Given the description of an element on the screen output the (x, y) to click on. 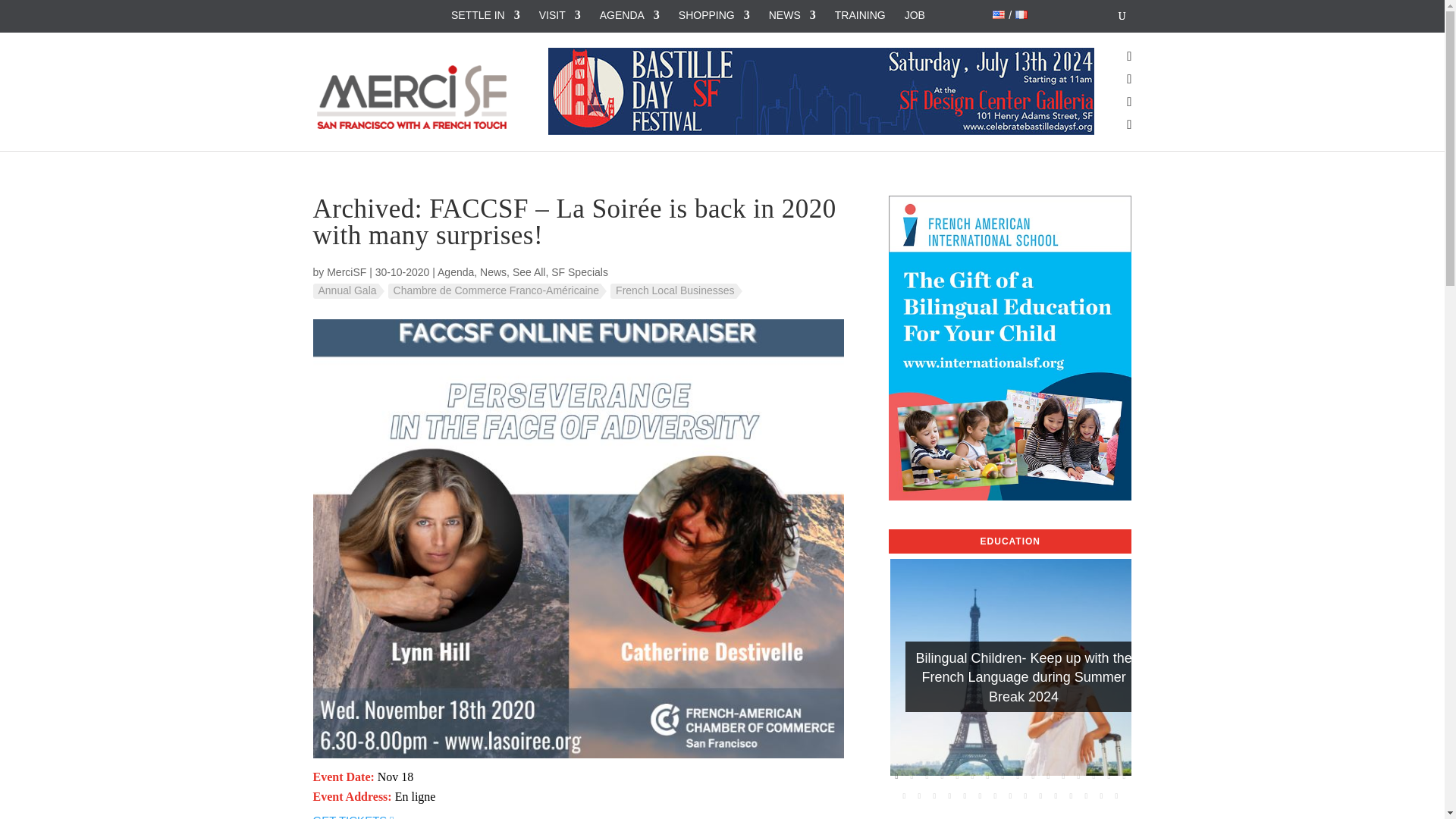
TRAINING (859, 14)
JOB (914, 14)
NEWS (791, 14)
VISIT (559, 14)
AGENDA (629, 14)
SHOPPING (713, 14)
SETTLE IN (485, 14)
Posts by MerciSF (346, 272)
